Given the description of an element on the screen output the (x, y) to click on. 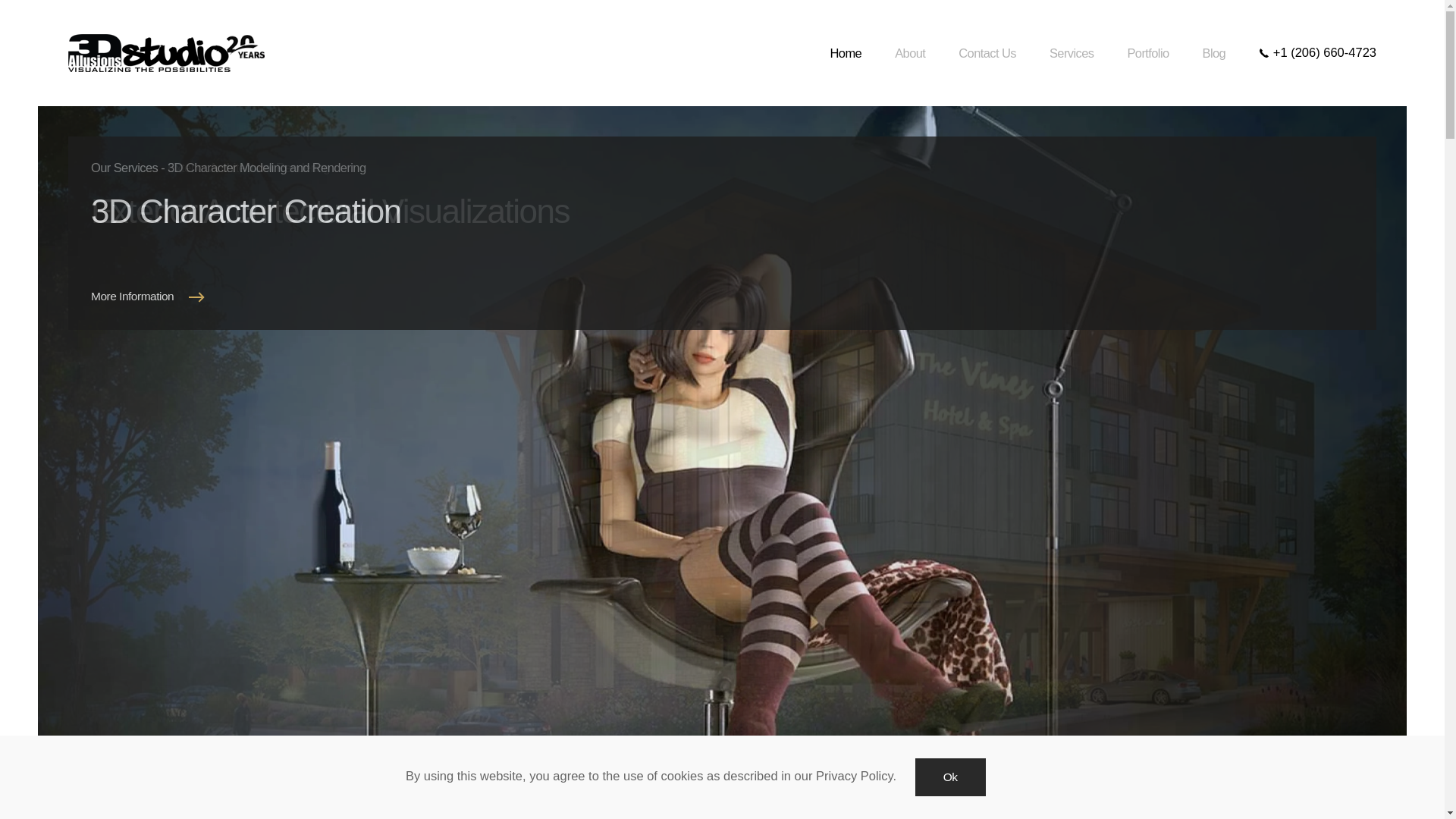
Ok Element type: text (950, 777)
About Element type: text (909, 53)
More Information Element type: text (149, 296)
3D Character Creation Element type: text (786, 794)
Exterior Architectural Visualizations Element type: text (657, 794)
+1 (206) 660-4723 Element type: text (1317, 52)
Interior Design Photorealistic Rendering Element type: text (734, 794)
Services Element type: text (1071, 53)
Portfolio Element type: text (1147, 53)
Photorealistic Product Illustration Element type: text (682, 794)
Non-photorealistic Illustrations Element type: text (760, 794)
Blog Element type: text (1214, 53)
Automotive 3D Illustration Element type: text (708, 794)
Home Element type: text (846, 53)
Contact Us Element type: text (987, 53)
